Given the description of an element on the screen output the (x, y) to click on. 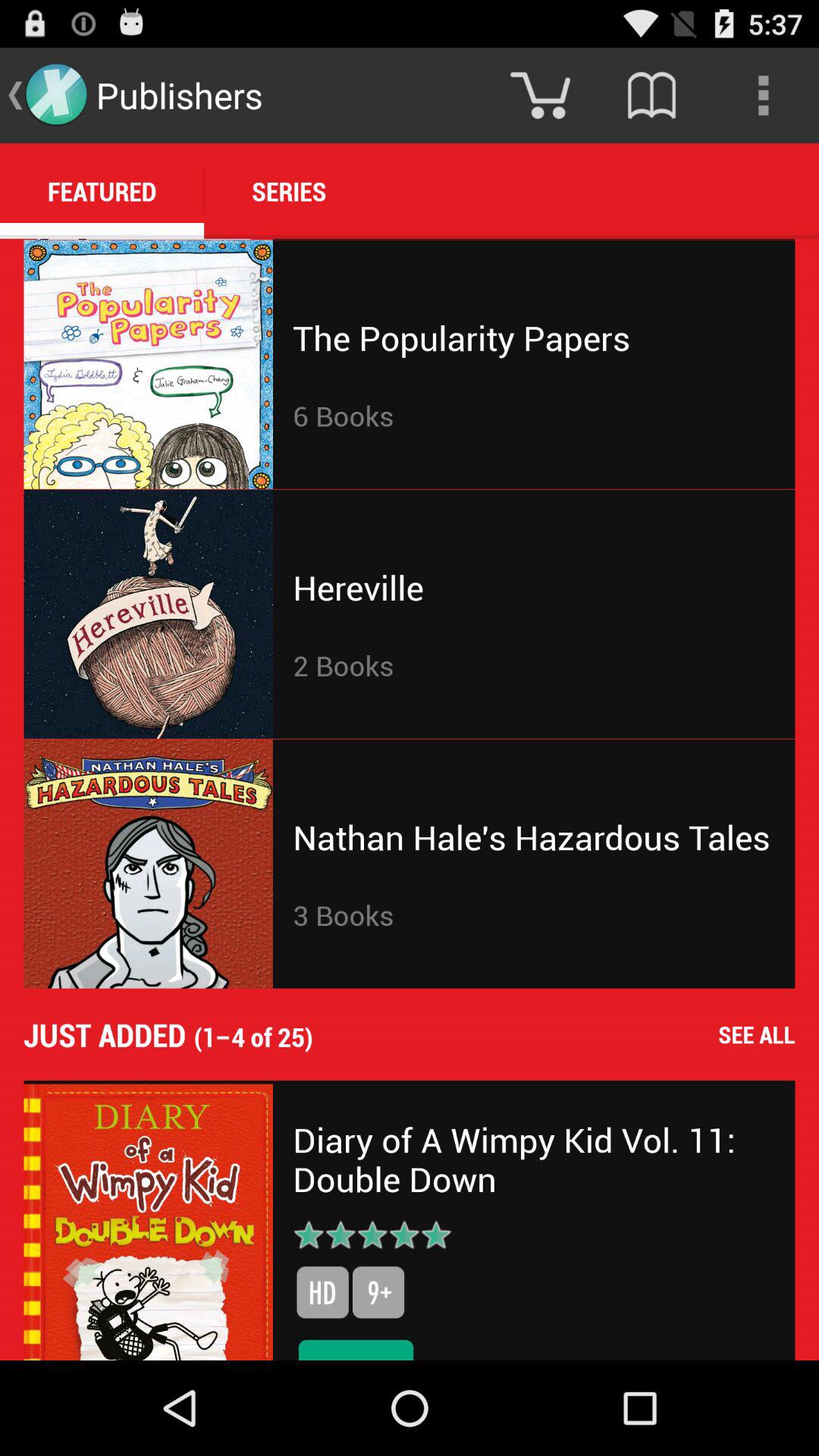
scroll until series icon (289, 190)
